Given the description of an element on the screen output the (x, y) to click on. 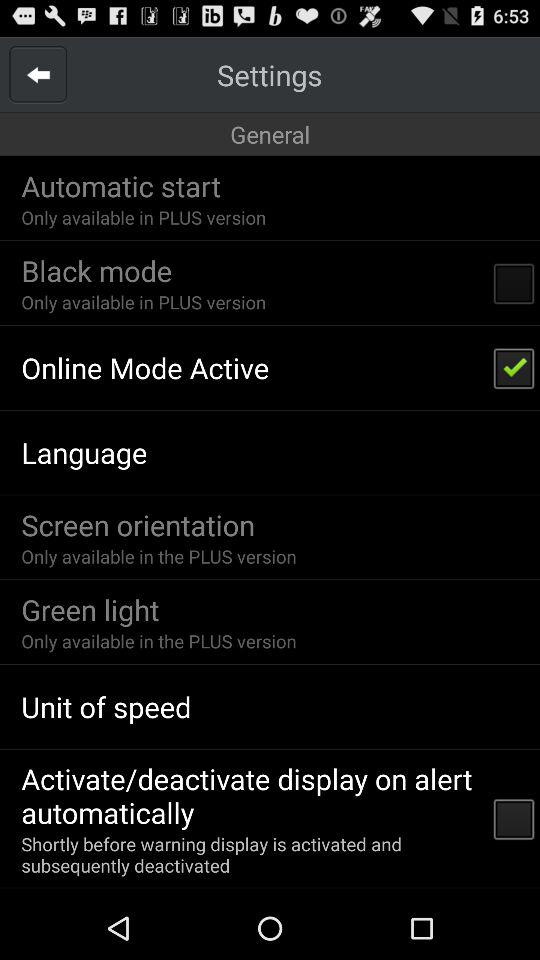
return to the previous screen (38, 74)
